Given the description of an element on the screen output the (x, y) to click on. 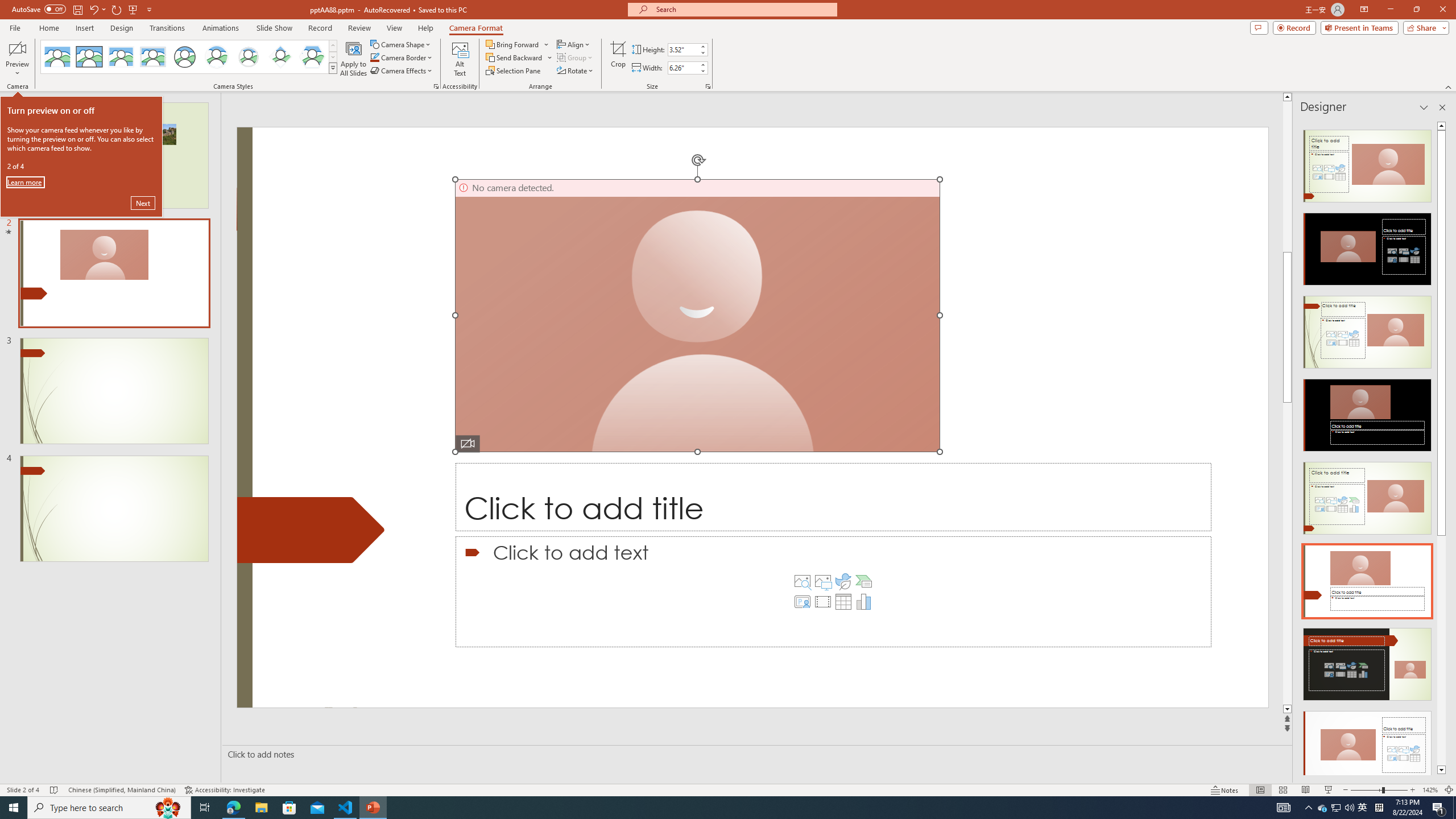
Camera 7, No camera detected. (697, 314)
Simple Frame Circle (184, 56)
Bring Forward (517, 44)
Soft Edge Rectangle (152, 56)
